Given the description of an element on the screen output the (x, y) to click on. 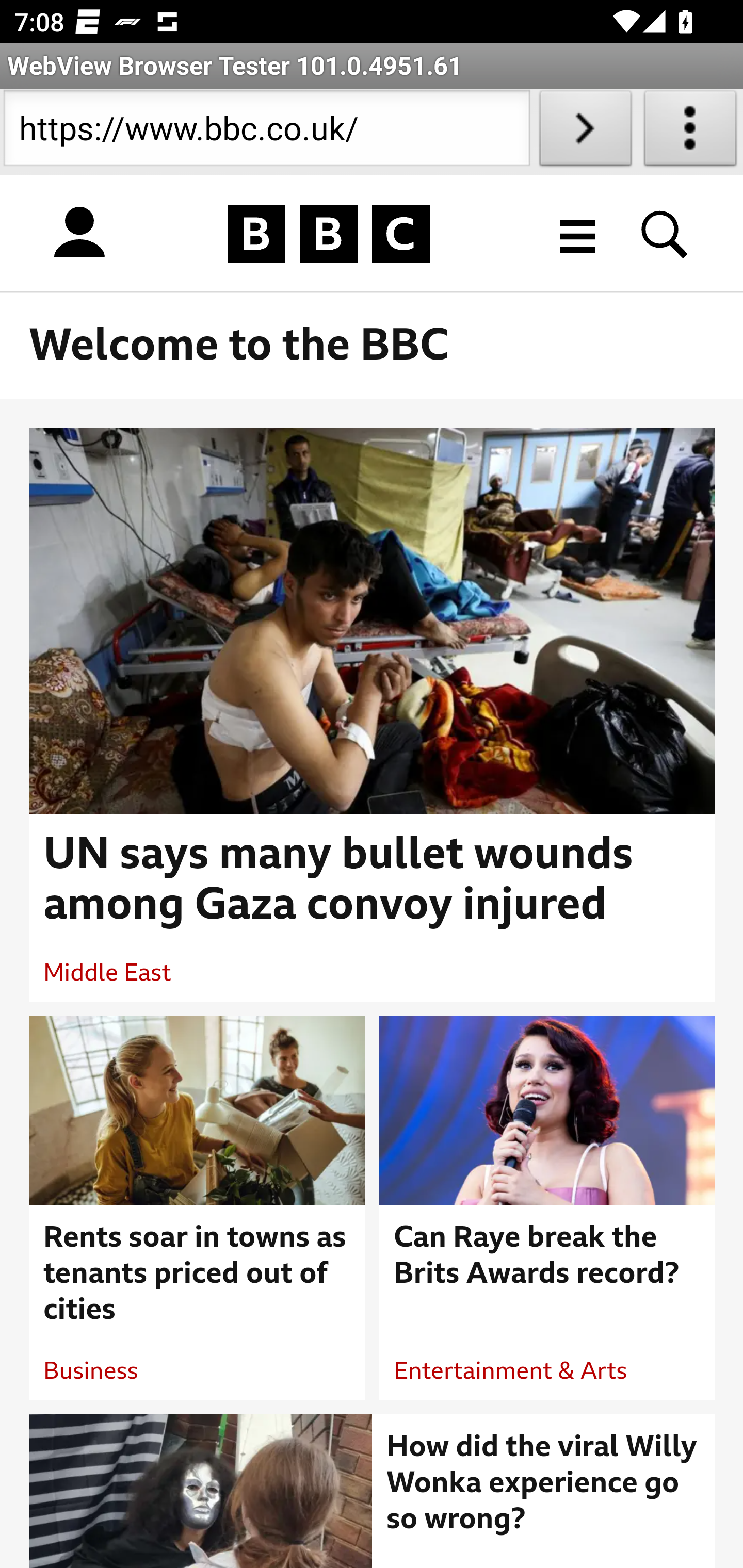
https://www.bbc.co.uk/ (266, 132)
Load URL (585, 132)
About WebView (690, 132)
Sign in (79, 233)
BBC Homepage (329, 233)
More menu (578, 233)
Search BBC (665, 233)
Middle East (107, 972)
Can Raye break the Brits Awards record? (547, 1255)
Business (90, 1371)
Entertainment & Arts (510, 1371)
